Given the description of an element on the screen output the (x, y) to click on. 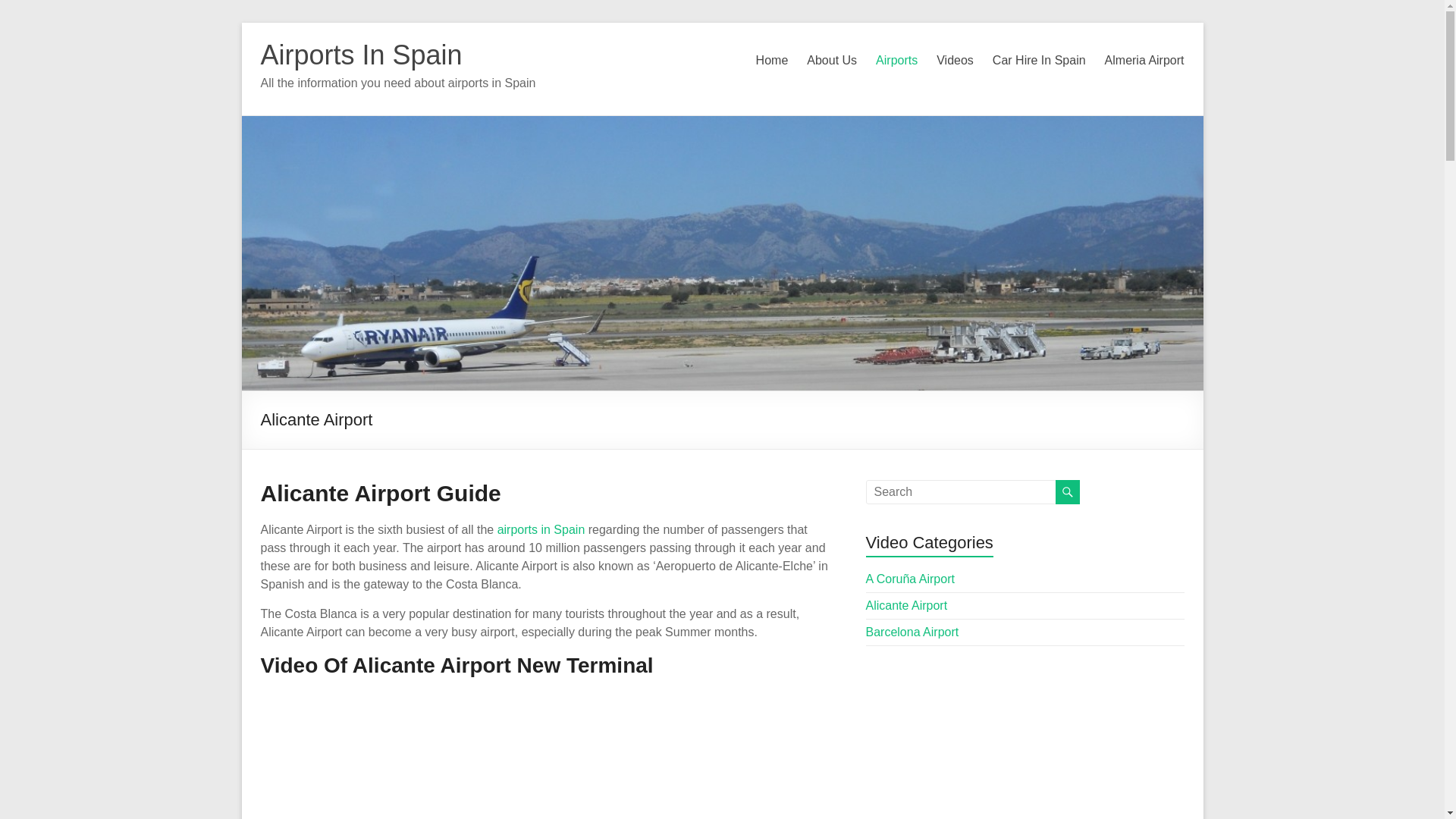
Alicante Airport (906, 604)
Almeria Airport (1145, 60)
airports in Spain (541, 529)
About Us (831, 60)
Barcelona Airport (912, 631)
Airports In Spain (361, 54)
Videos (955, 60)
Airports (896, 60)
Airports In Spain (361, 54)
